Given the description of an element on the screen output the (x, y) to click on. 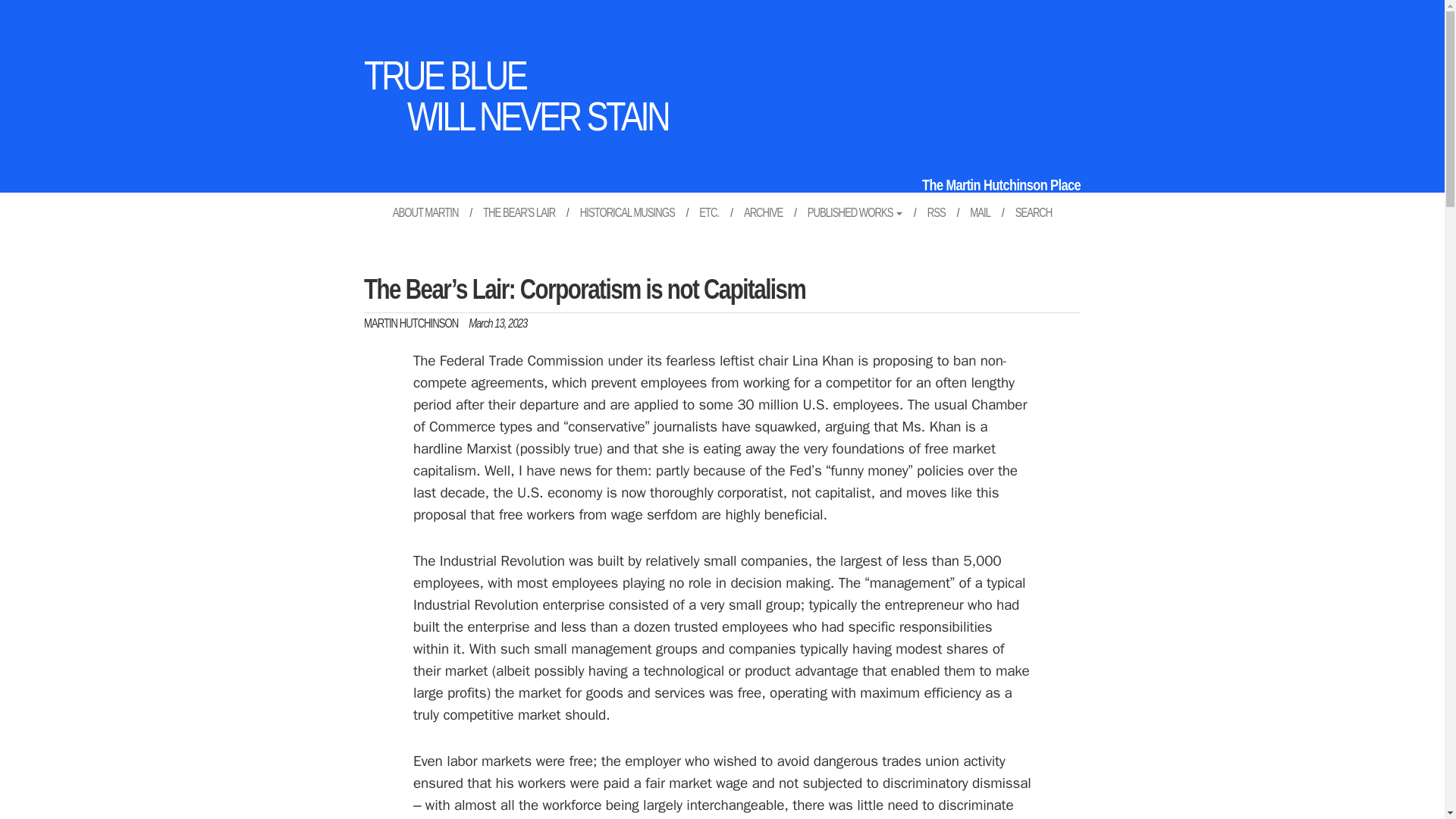
HISTORICAL MUSINGS (627, 211)
True Blue Will Never Stain (516, 94)
ETC. (708, 211)
MAIL (979, 211)
RSS (935, 211)
View all posts by Martin Hutchinson (411, 323)
PUBLISHED WORKS (855, 211)
ARCHIVE (762, 211)
MARTIN HUTCHINSON (516, 94)
ABOUT MARTIN (411, 323)
SEARCH (425, 211)
